Given the description of an element on the screen output the (x, y) to click on. 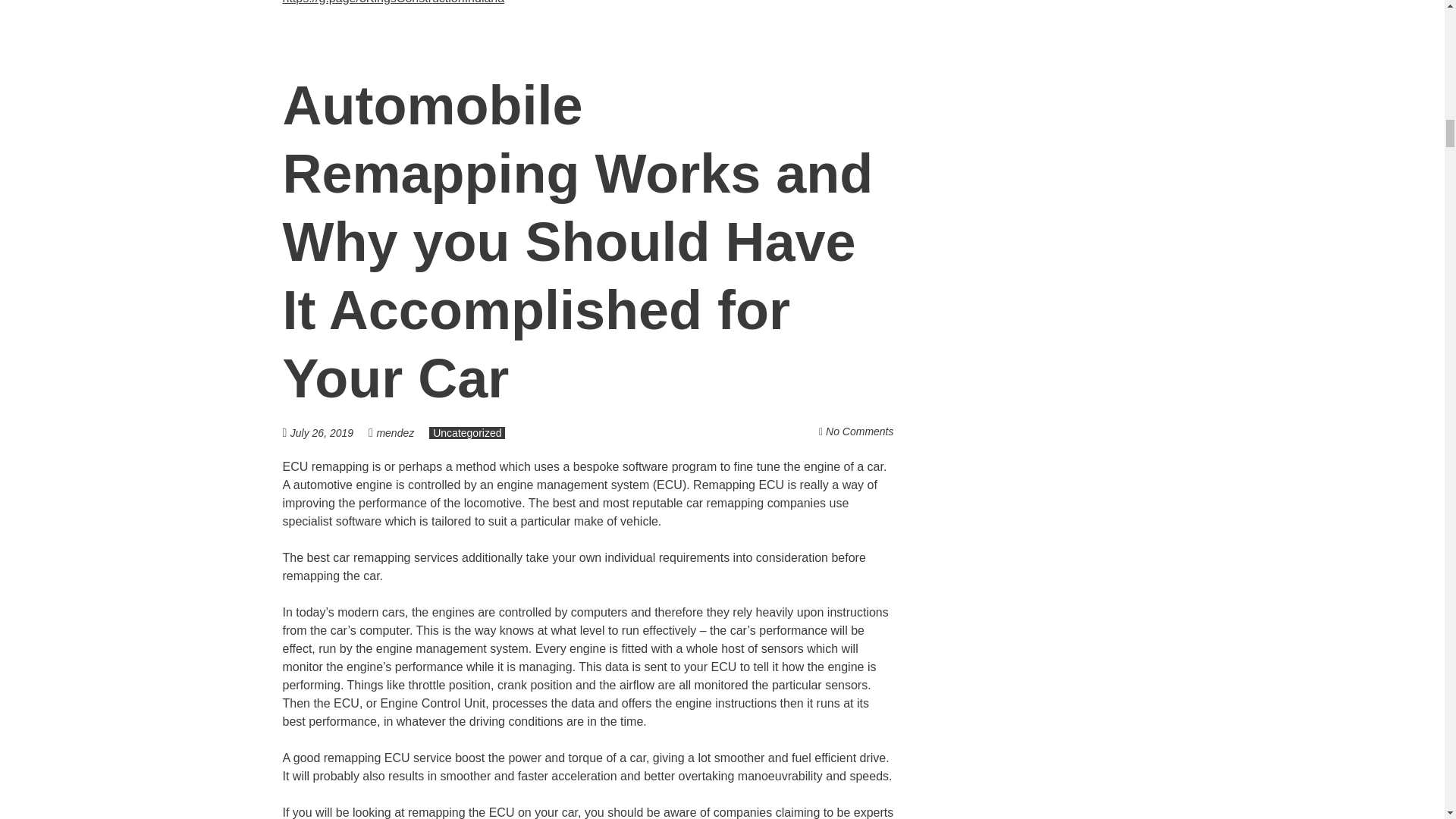
mendez (394, 432)
No Comments (859, 431)
Uncategorized (467, 432)
July 26, 2019 (328, 431)
